Given the description of an element on the screen output the (x, y) to click on. 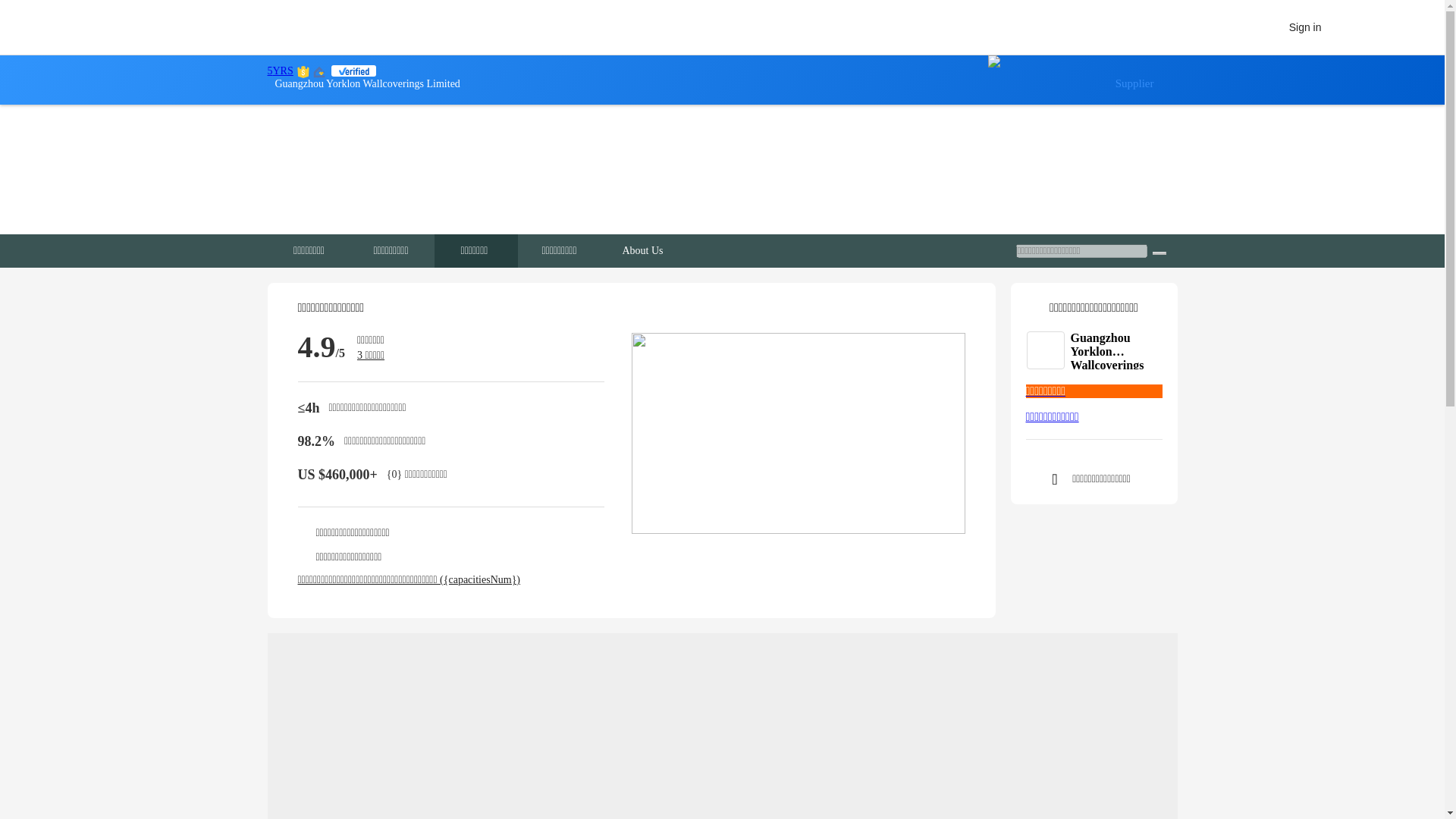
5YRS (279, 70)
Send inquiry (1093, 417)
Guangzhou Yorklon Wallcoverings Limited (1115, 350)
About Us (642, 250)
What is Gold Supplier? (279, 70)
Supplier (1081, 79)
About Us (641, 250)
